Given the description of an element on the screen output the (x, y) to click on. 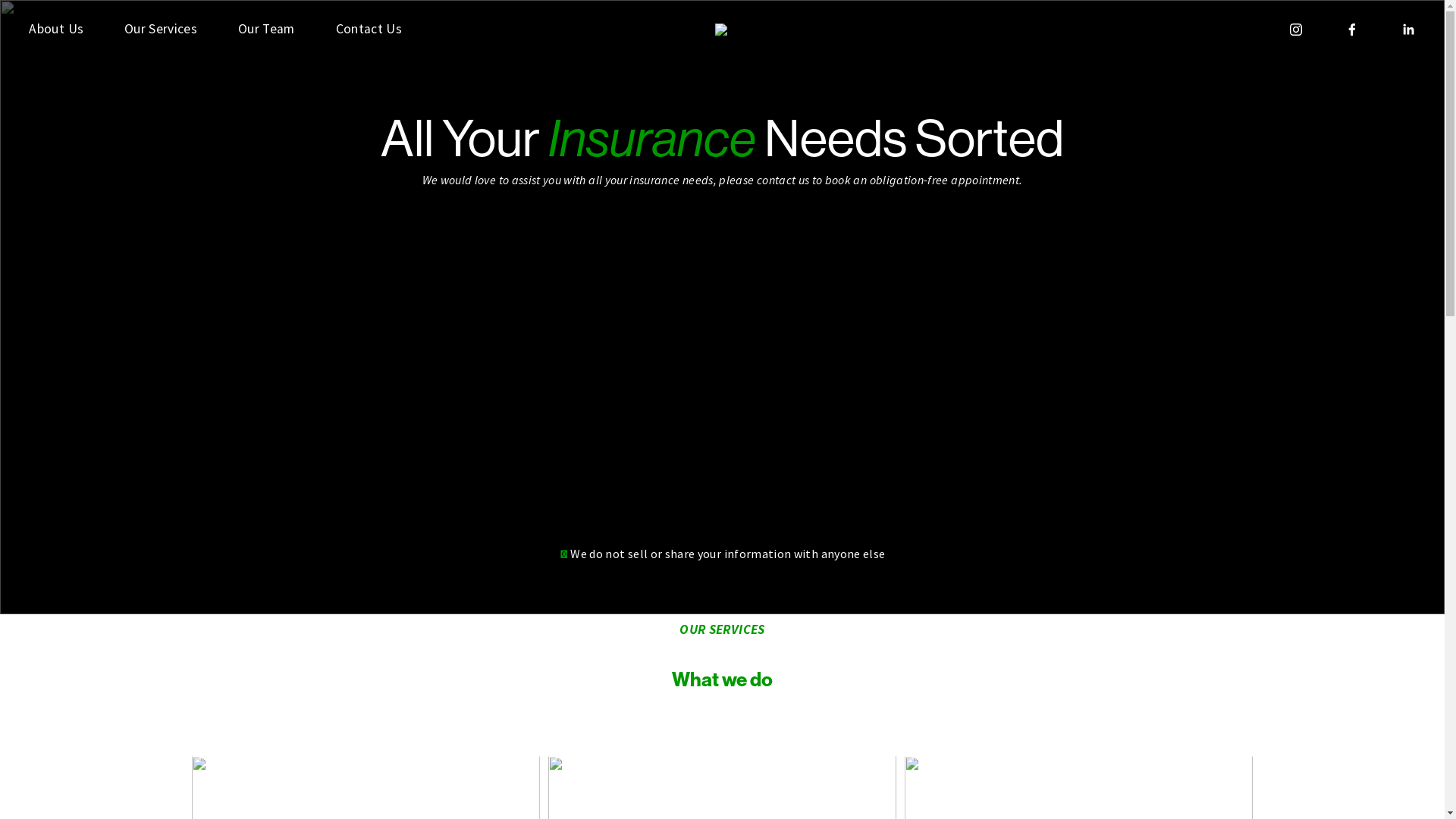
About Us Element type: text (55, 28)
Contact Us Element type: text (368, 28)
Our Services Element type: text (160, 28)
Our Team Element type: text (266, 28)
